Given the description of an element on the screen output the (x, y) to click on. 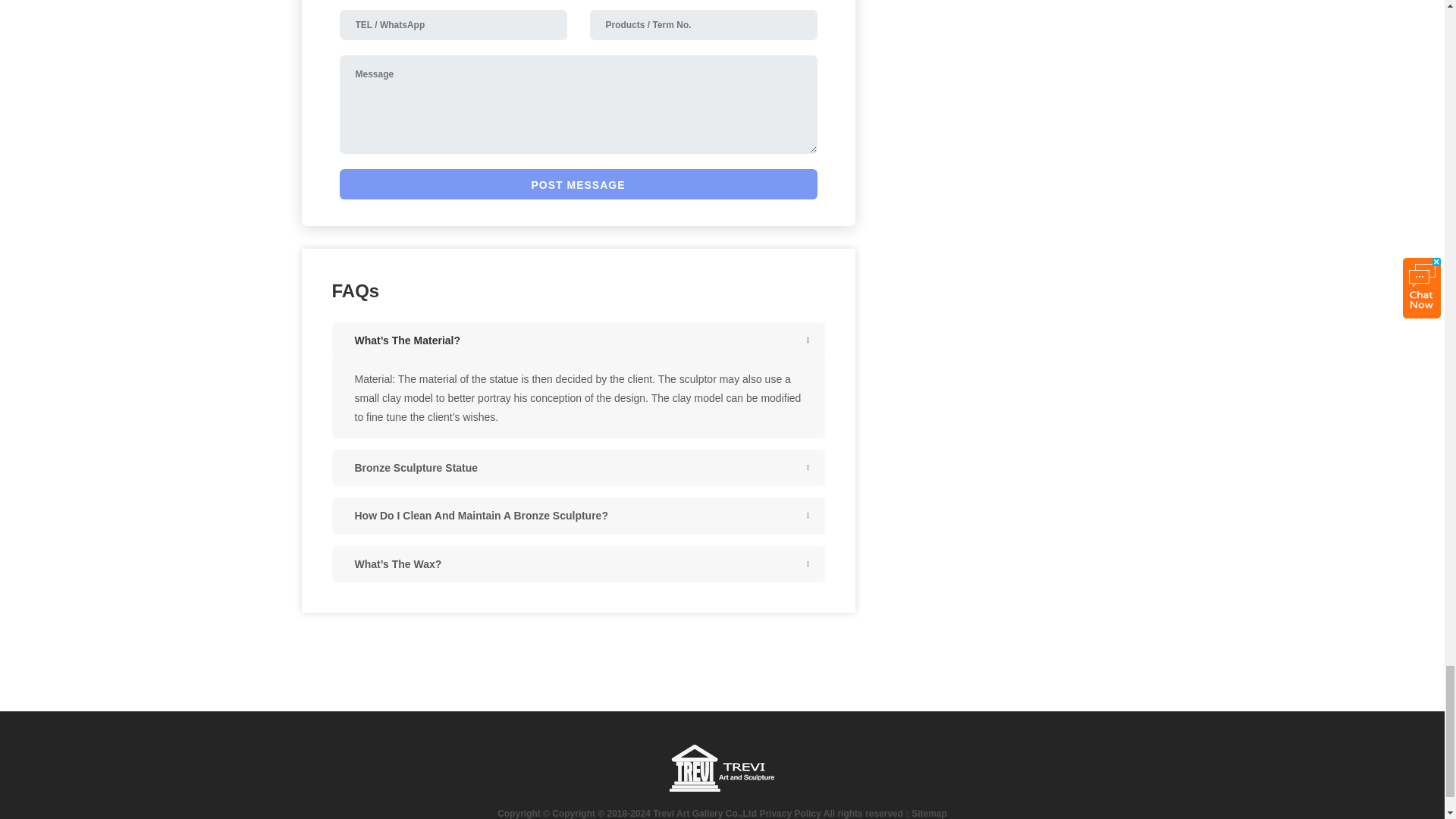
How Do I Clean And Maintain A Bronze Sculpture? (578, 515)
POST MESSAGE (577, 183)
Bronze Sculpture Statue (578, 467)
